Given the description of an element on the screen output the (x, y) to click on. 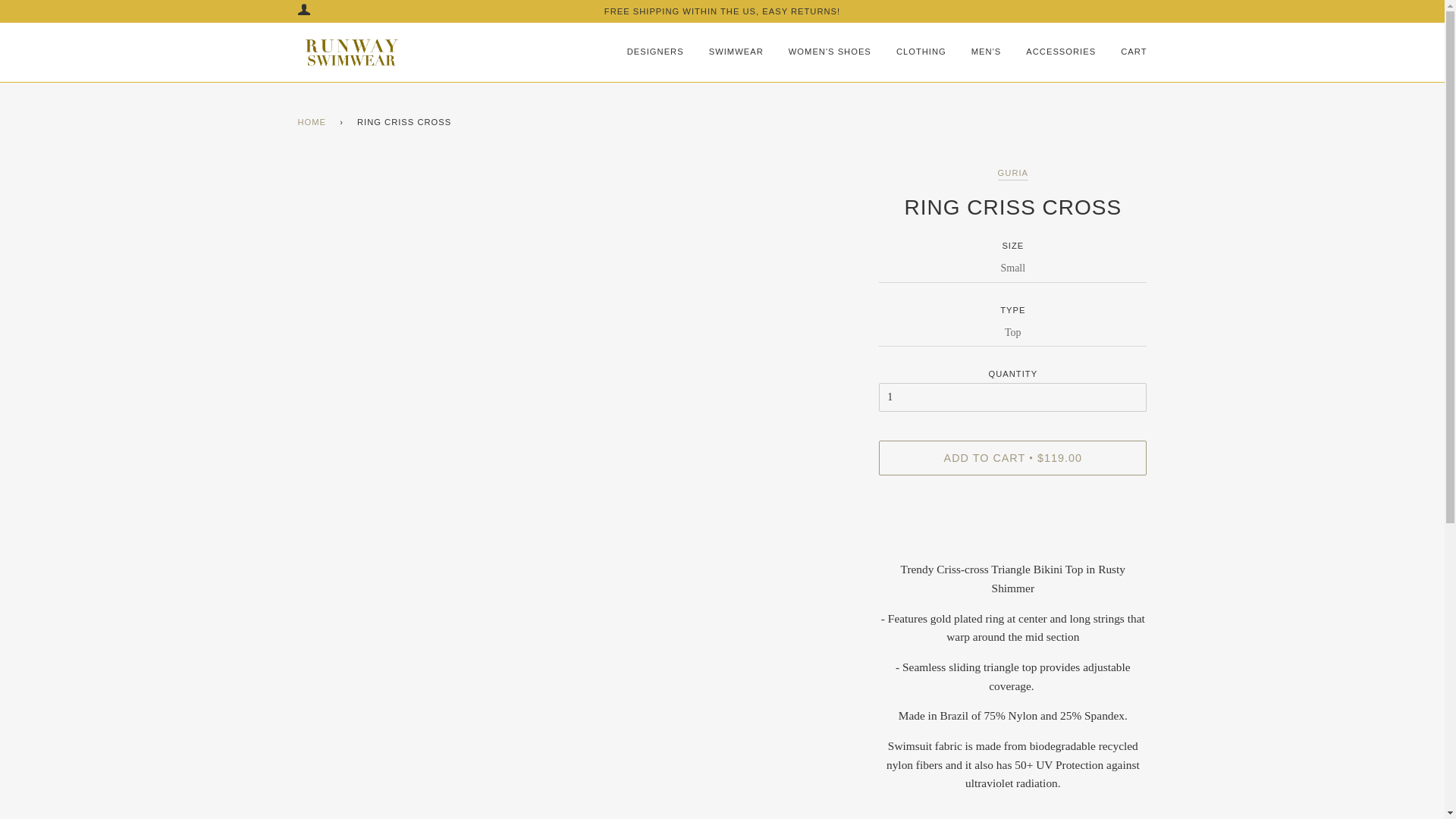
FREE SHIPPING WITHIN THE US, EASY RETURNS! (722, 10)
Back to the frontpage (314, 122)
1 (1013, 397)
DESIGNERS (655, 51)
